Given the description of an element on the screen output the (x, y) to click on. 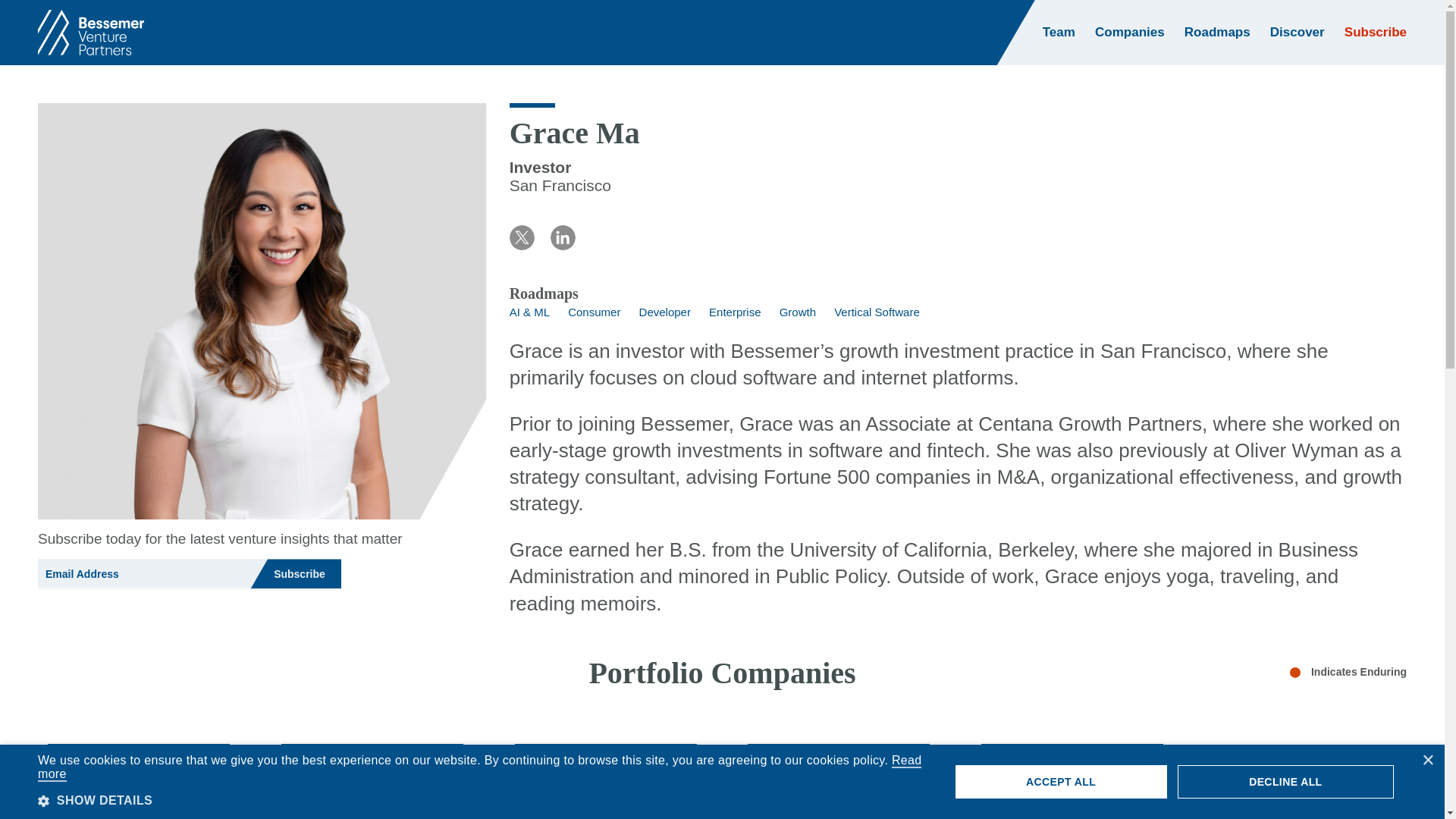
Team (1058, 32)
Companies (1129, 32)
Subscribe (295, 573)
Roadmaps (1217, 32)
